Given the description of an element on the screen output the (x, y) to click on. 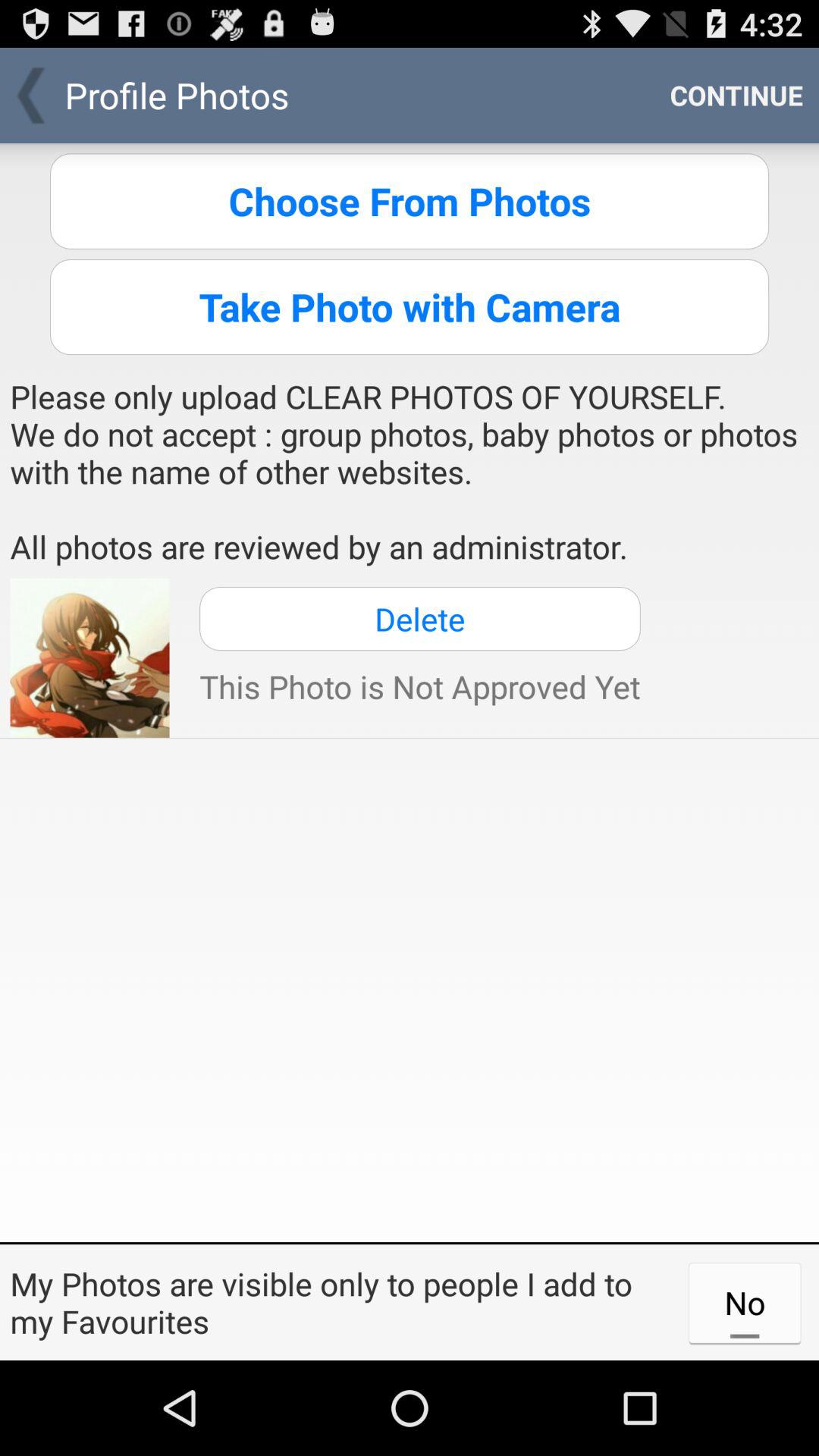
launch app to the right of my photos are item (744, 1302)
